Given the description of an element on the screen output the (x, y) to click on. 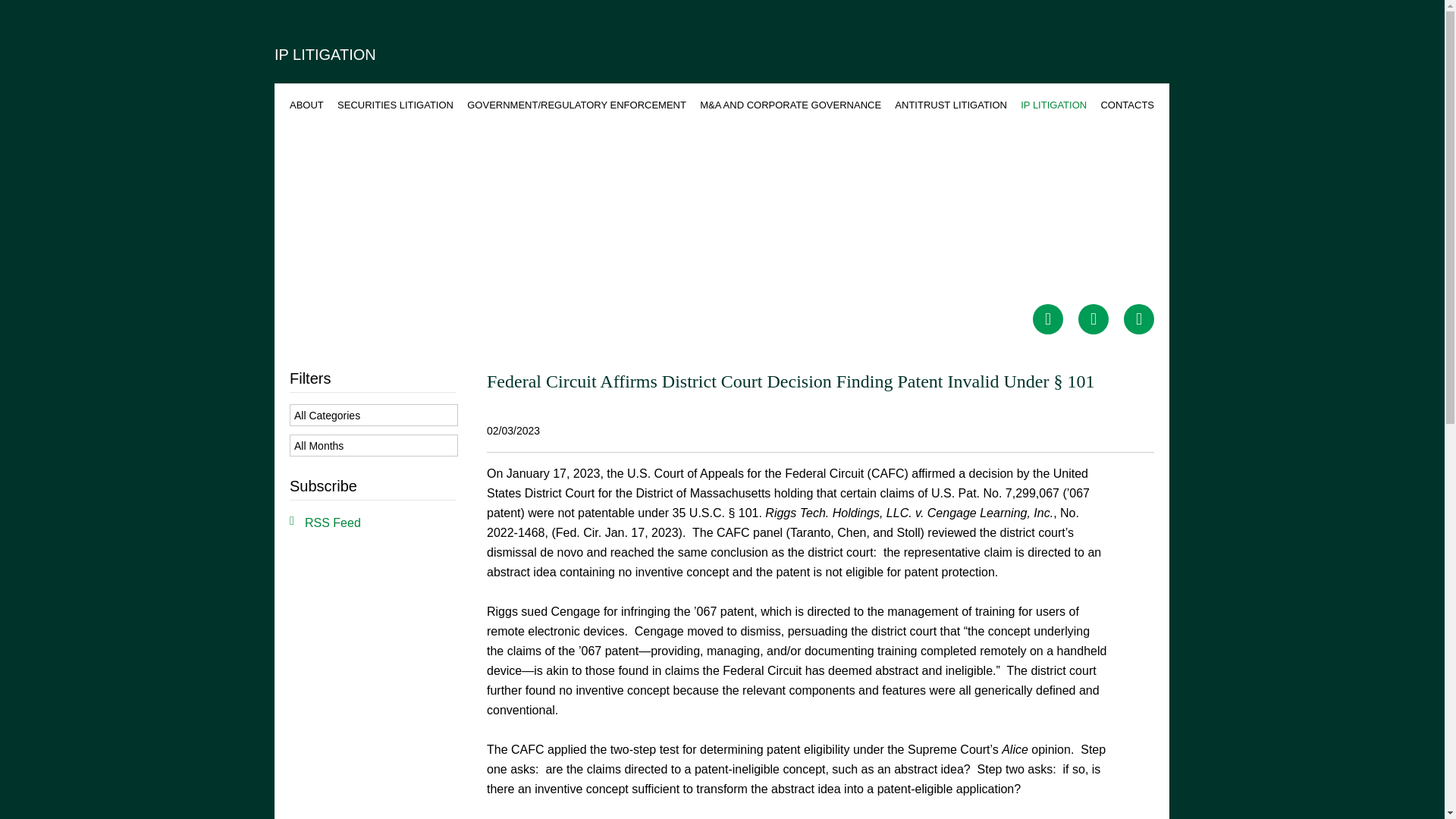
IP LITIGATION (1053, 104)
SECURITIES LITIGATION (394, 104)
CONTACTS (1127, 104)
ABOUT (306, 104)
ANTITRUST LITIGATION (951, 104)
RSS Feed (325, 522)
